Given the description of an element on the screen output the (x, y) to click on. 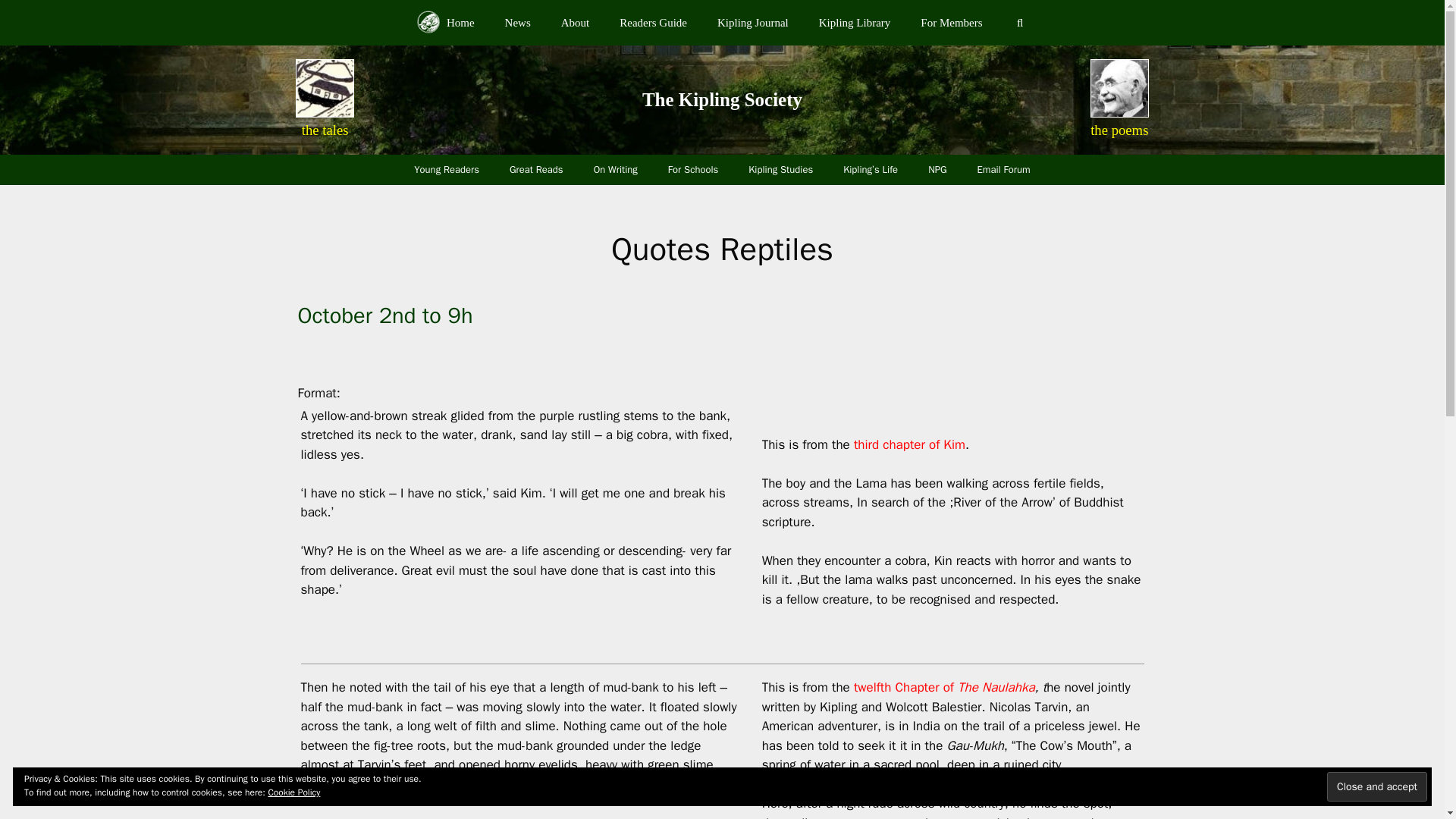
Kipling Studies (780, 169)
the poems (1119, 130)
News (517, 22)
Home (445, 22)
For Members (951, 22)
Close and accept (1376, 786)
NPG (936, 169)
About (575, 22)
Great Reads (536, 169)
Email Forum (1003, 169)
The Kipling Society (722, 99)
On Writing (615, 169)
twelfth Chapter of The Naulahka (942, 687)
the tales (325, 130)
For Schools (692, 169)
